Given the description of an element on the screen output the (x, y) to click on. 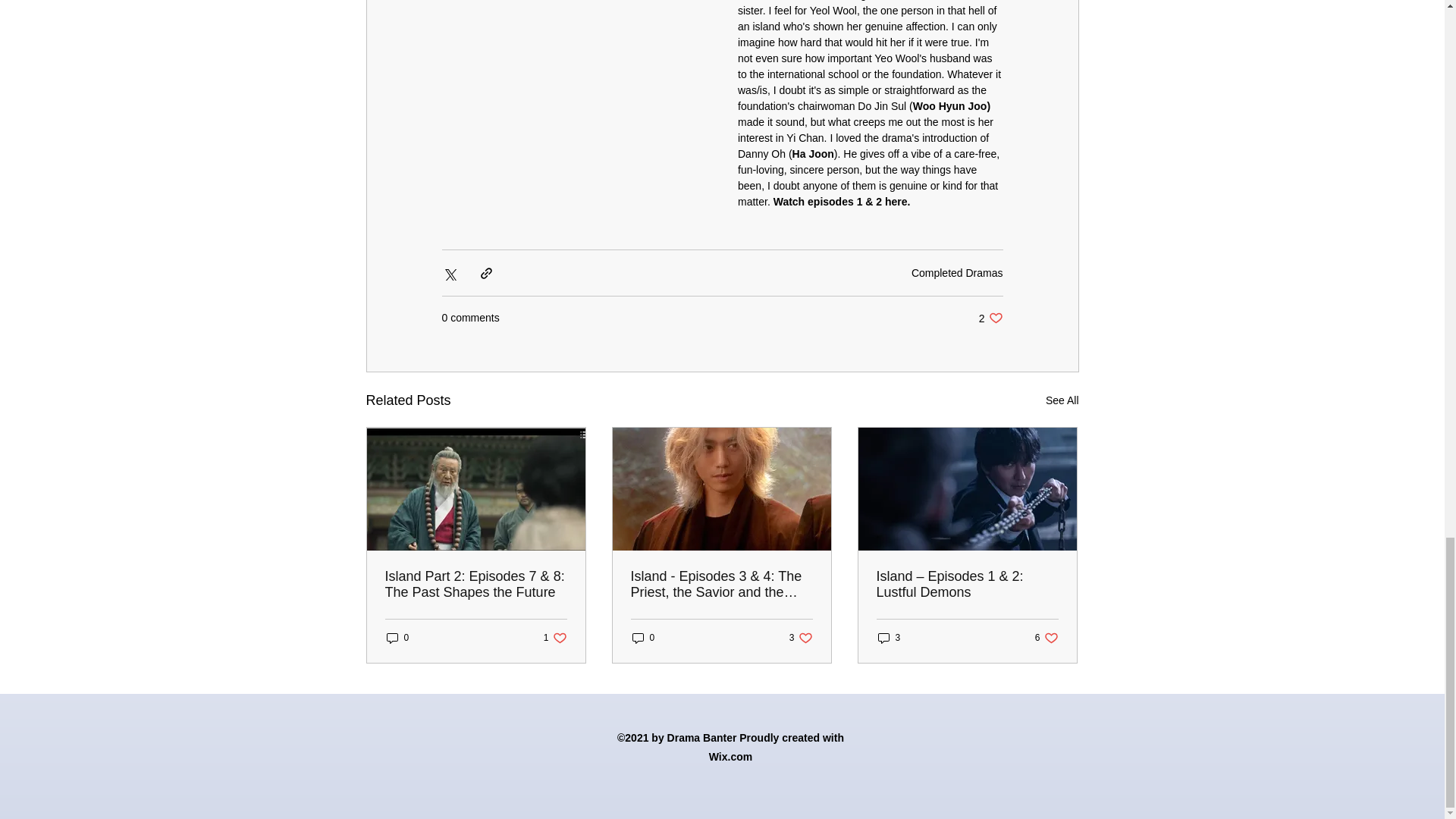
Woo Hyun Joo (949, 105)
Ha Joon (812, 153)
Completed Dramas (990, 318)
